Given the description of an element on the screen output the (x, y) to click on. 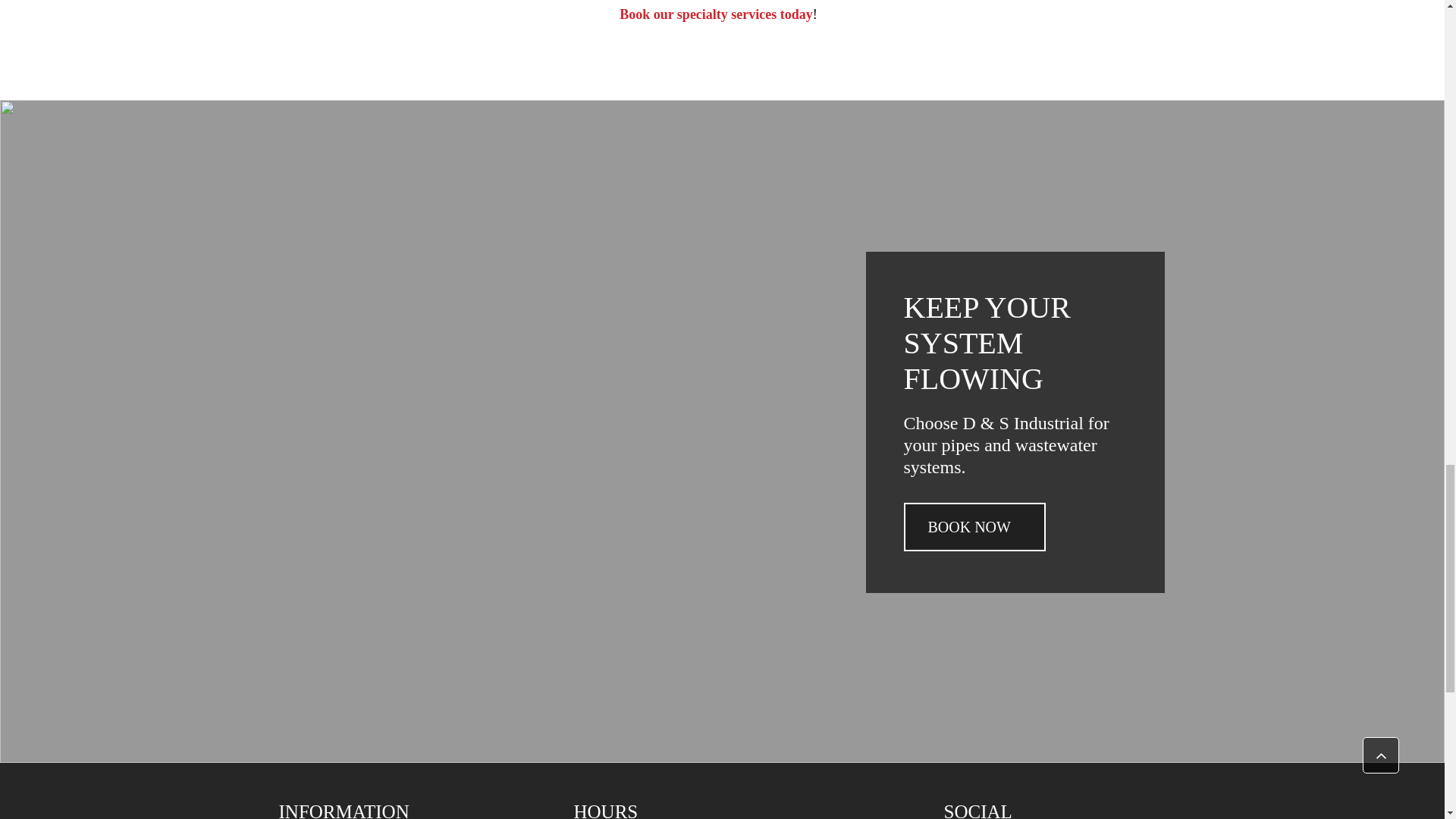
Book our specialty services today (716, 16)
BOOK NOW (974, 526)
